Given the description of an element on the screen output the (x, y) to click on. 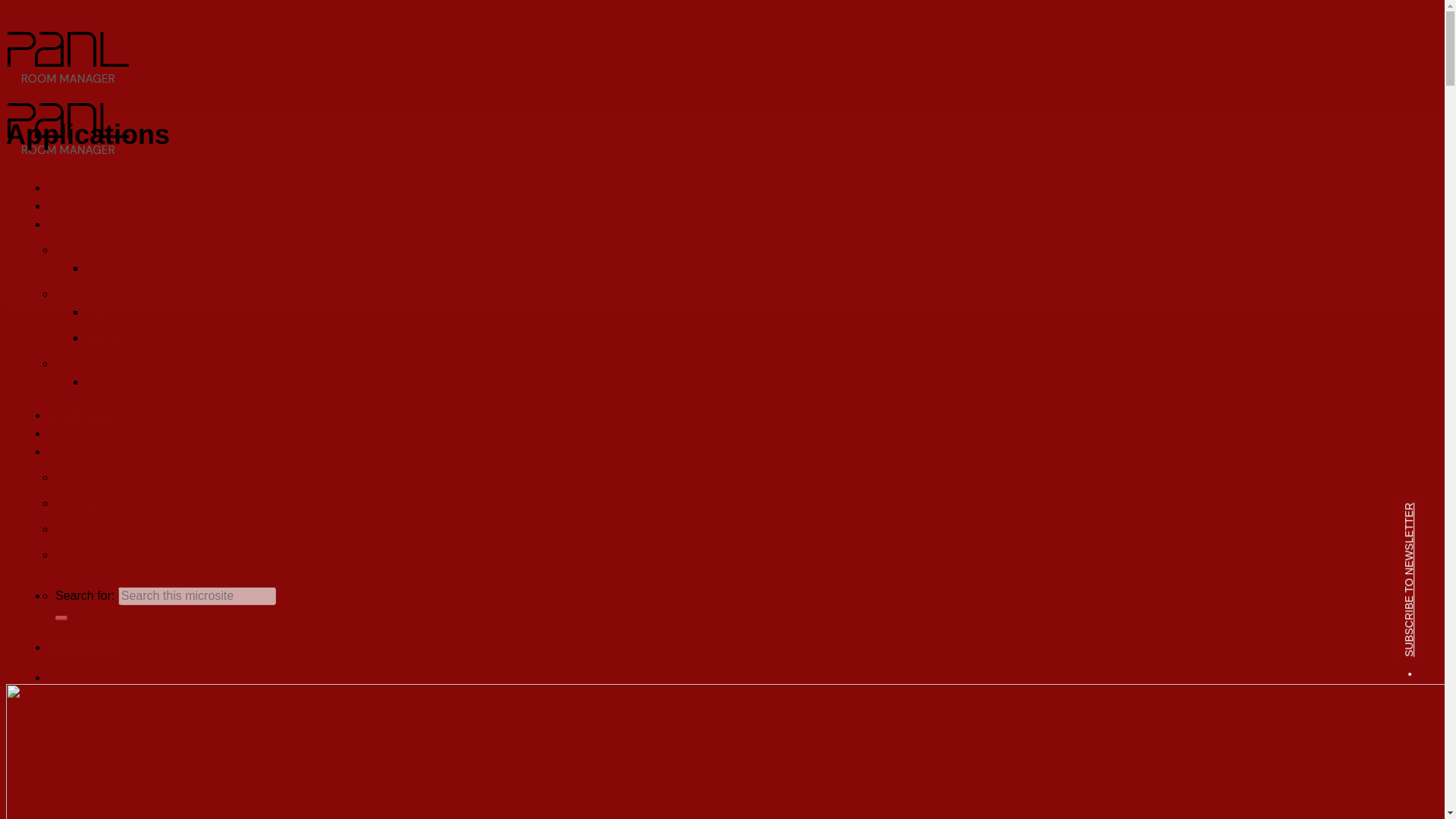
ACCESSORIES (98, 363)
Hub80 (102, 311)
PD100 (103, 267)
Software (72, 432)
Videos (74, 528)
Hub44 (102, 337)
Search (60, 617)
RFID Reader (121, 381)
Get In Touch (82, 646)
Start Here (75, 205)
